Given the description of an element on the screen output the (x, y) to click on. 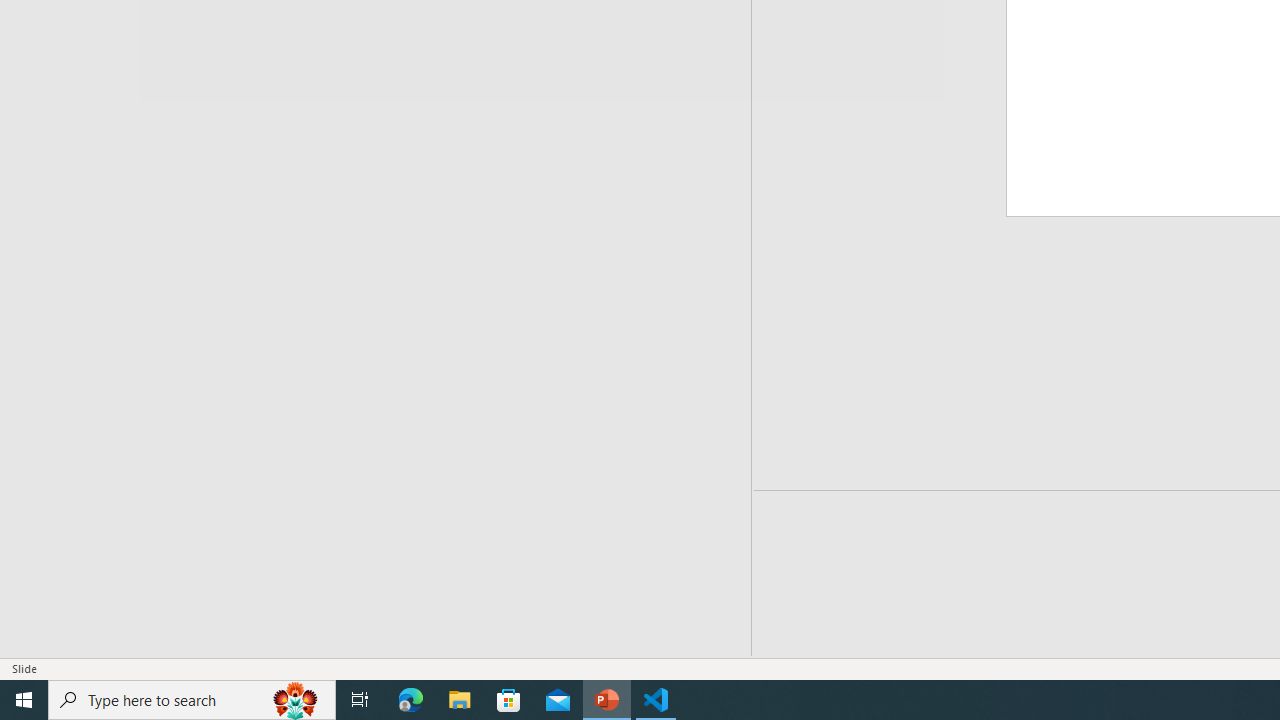
Microsoft Edge (411, 699)
